Given the description of an element on the screen output the (x, y) to click on. 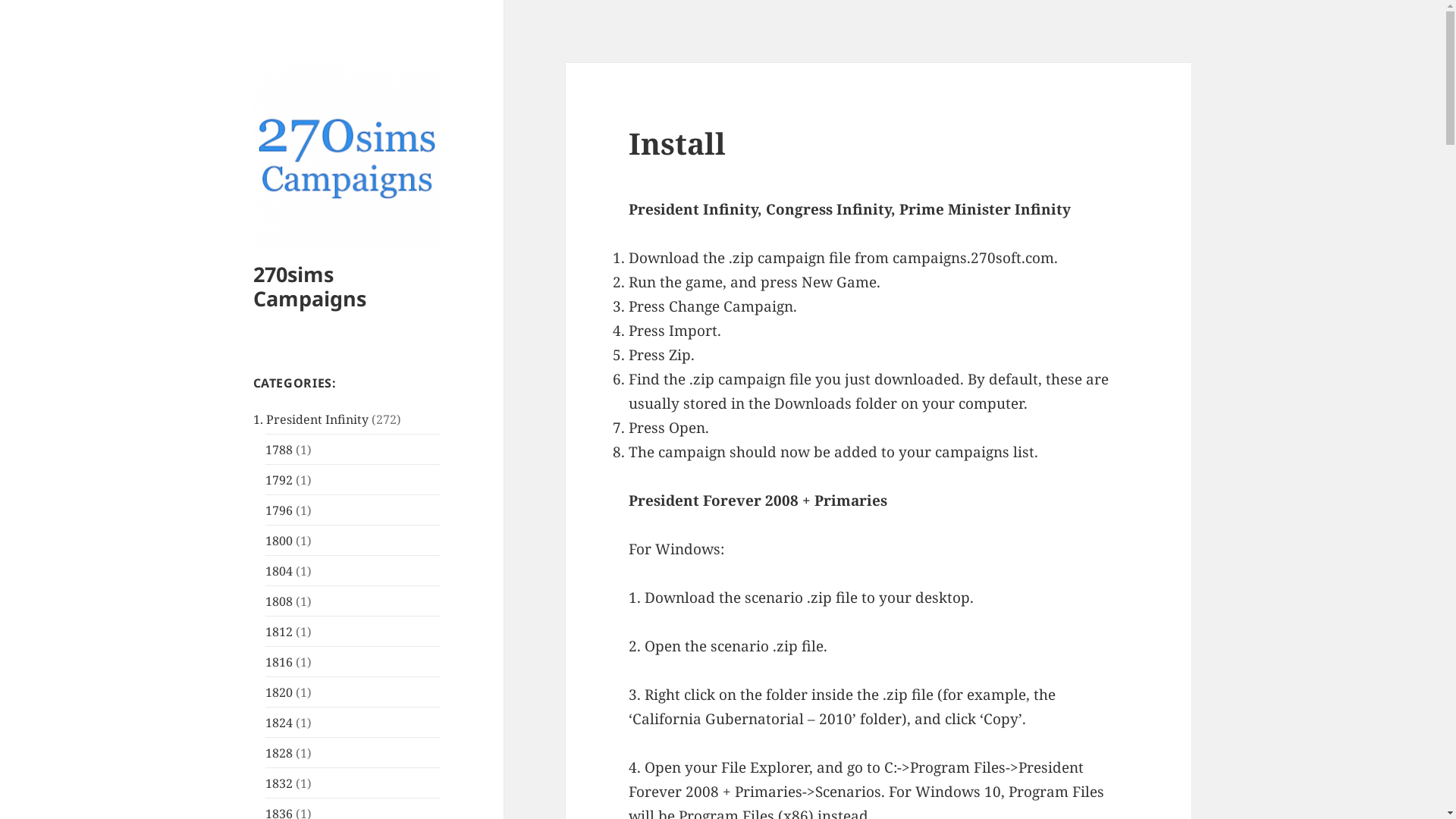
1832 Element type: text (278, 783)
1792 Element type: text (278, 479)
1788 Element type: text (278, 449)
1800 Element type: text (278, 540)
1812 Element type: text (278, 631)
1. President Infinity Element type: text (310, 419)
1824 Element type: text (278, 722)
1796 Element type: text (278, 510)
270sims Campaigns Element type: text (309, 286)
1808 Element type: text (278, 601)
1820 Element type: text (278, 692)
1804 Element type: text (278, 570)
1816 Element type: text (278, 661)
1828 Element type: text (278, 752)
